Given the description of an element on the screen output the (x, y) to click on. 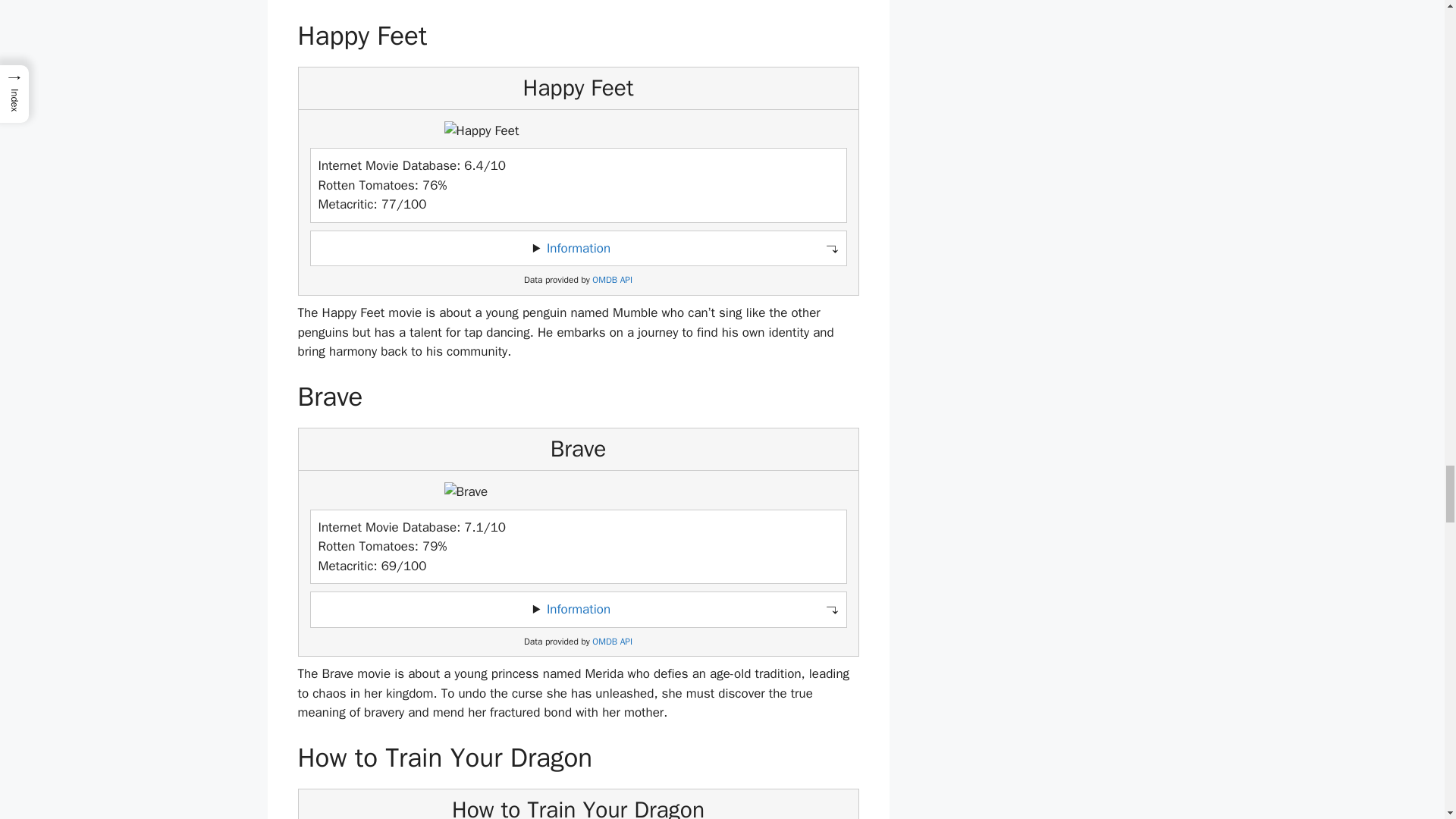
Information (578, 248)
Information (578, 609)
OMDB API (611, 279)
OMDB API (611, 641)
